Given the description of an element on the screen output the (x, y) to click on. 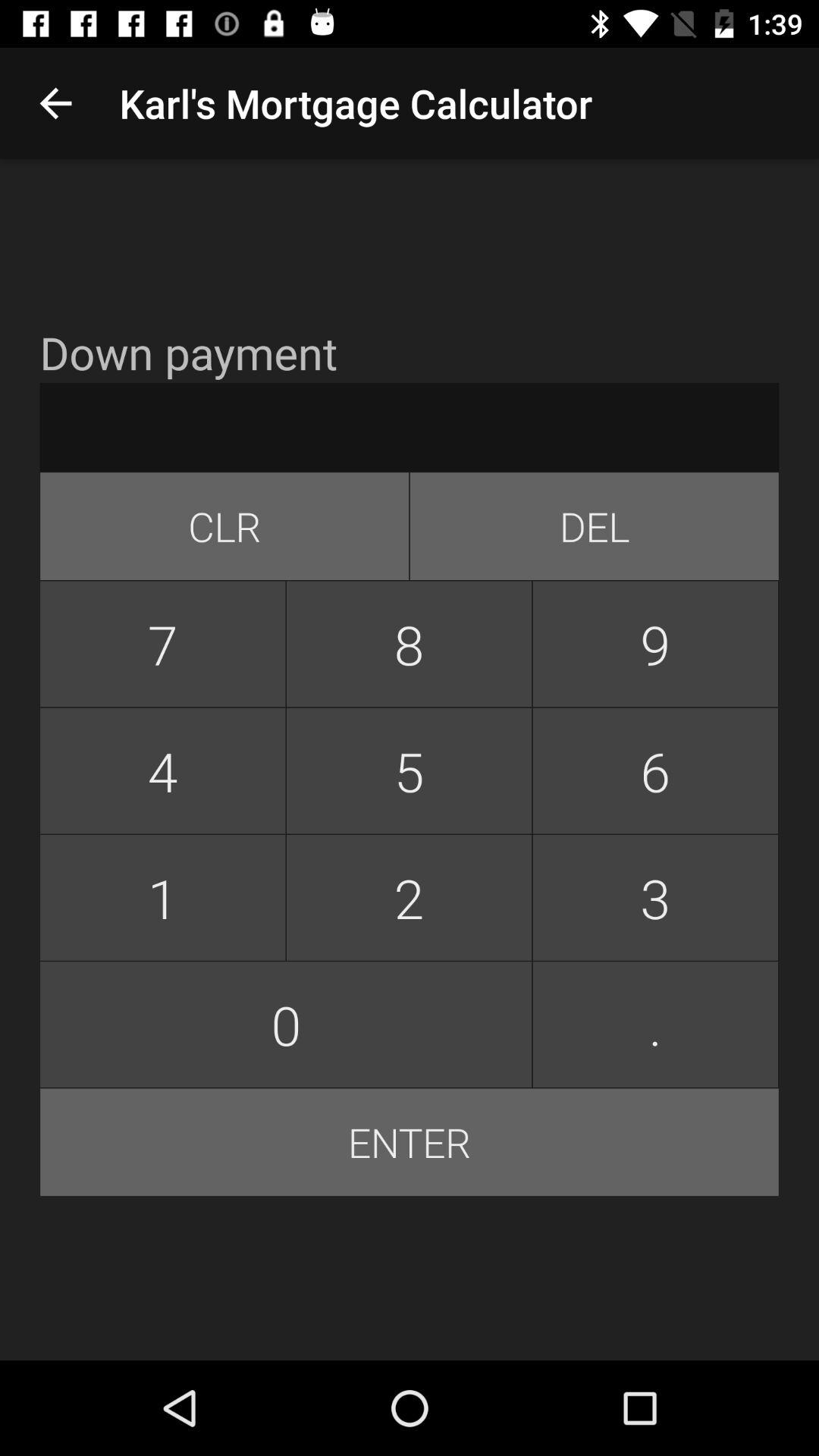
choose item below 4 button (408, 897)
